Given the description of an element on the screen output the (x, y) to click on. 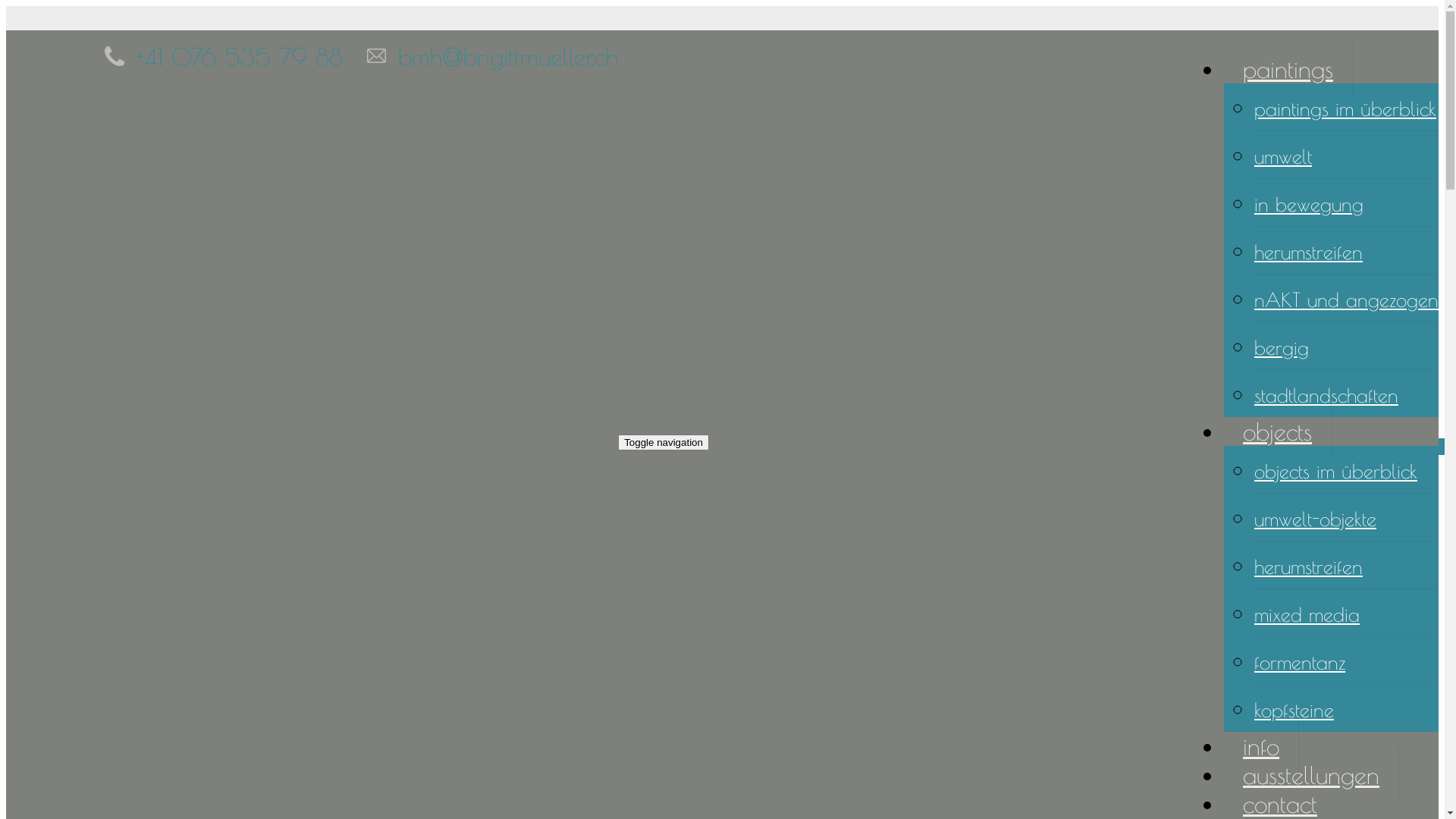
in bewegung Element type: text (1308, 203)
bmh@brigittmueller.ch Element type: text (508, 56)
kopfsteine Element type: text (1293, 709)
ausstellungen Element type: text (1311, 774)
bergig Element type: text (1281, 346)
umwelt Element type: text (1282, 155)
info Element type: text (1261, 745)
nAKT und angezogen Element type: text (1346, 299)
herumstreifen Element type: text (1308, 566)
stadtlandschaften Element type: text (1326, 394)
formentanz Element type: text (1299, 661)
mixed media Element type: text (1306, 613)
Toggle navigation Element type: text (663, 441)
herumstreifen Element type: text (1308, 251)
objects Element type: text (1277, 431)
umwelt-objekte Element type: text (1315, 518)
+41 076 535 79 88 Element type: text (239, 56)
paintings Element type: text (1287, 68)
